Given the description of an element on the screen output the (x, y) to click on. 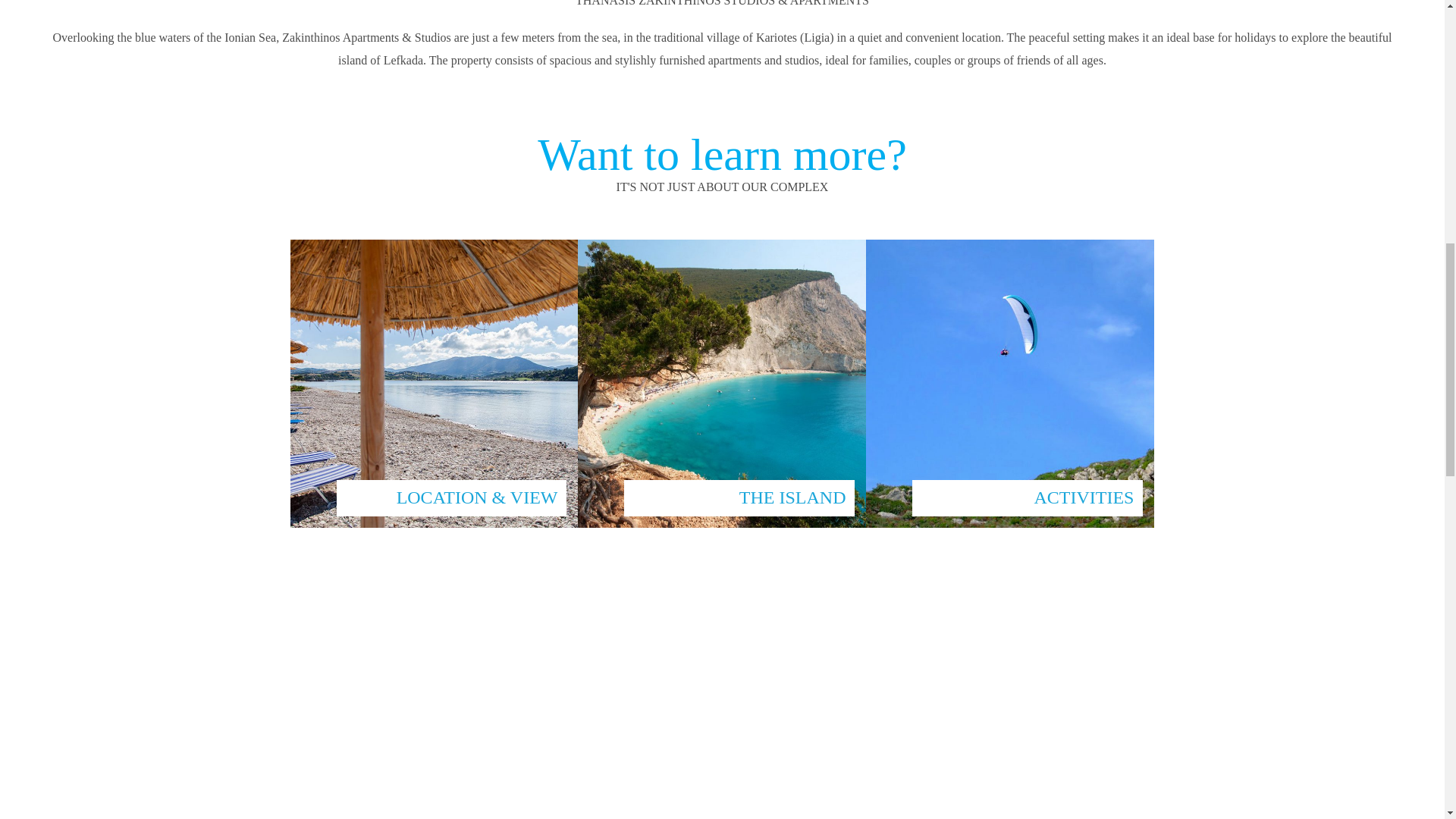
ACTIVITIES (1010, 383)
THE ISLAND (722, 383)
VIEW PHOTOS (722, 816)
